Given the description of an element on the screen output the (x, y) to click on. 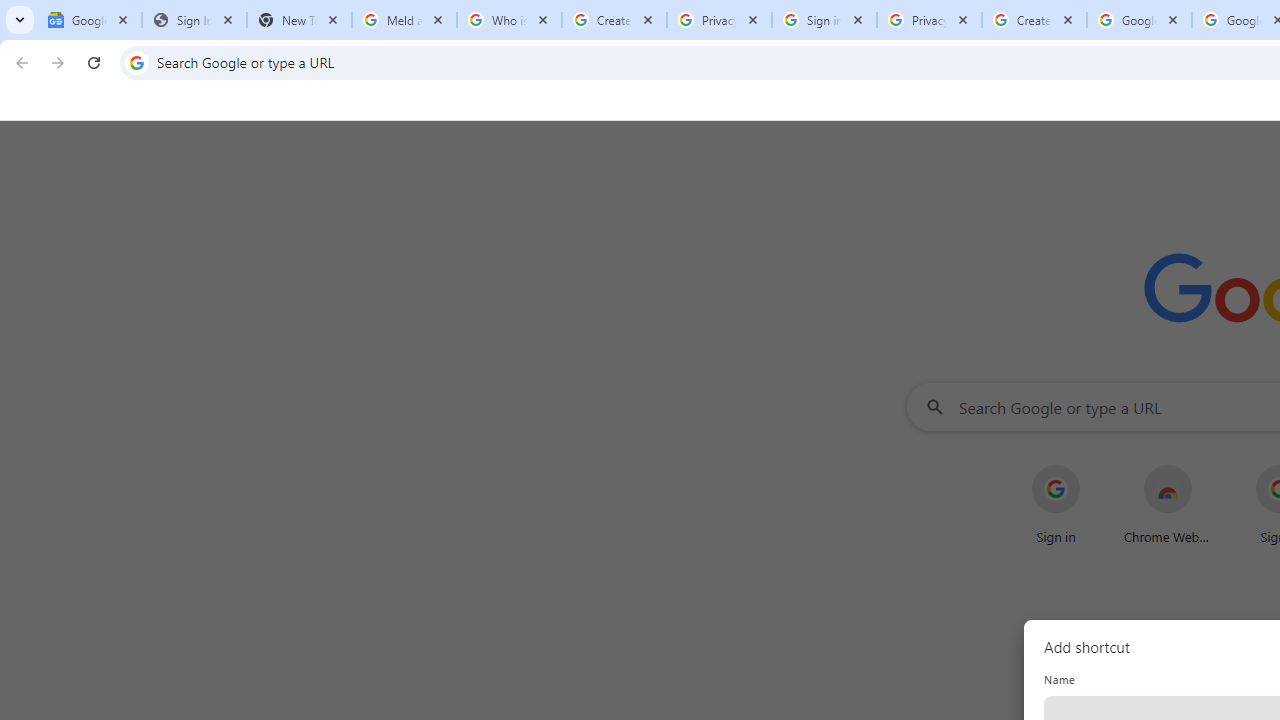
New Tab (299, 20)
Google News (89, 20)
Sign in - Google Accounts (823, 20)
Who is my administrator? - Google Account Help (509, 20)
Create your Google Account (1033, 20)
Create your Google Account (613, 20)
